Given the description of an element on the screen output the (x, y) to click on. 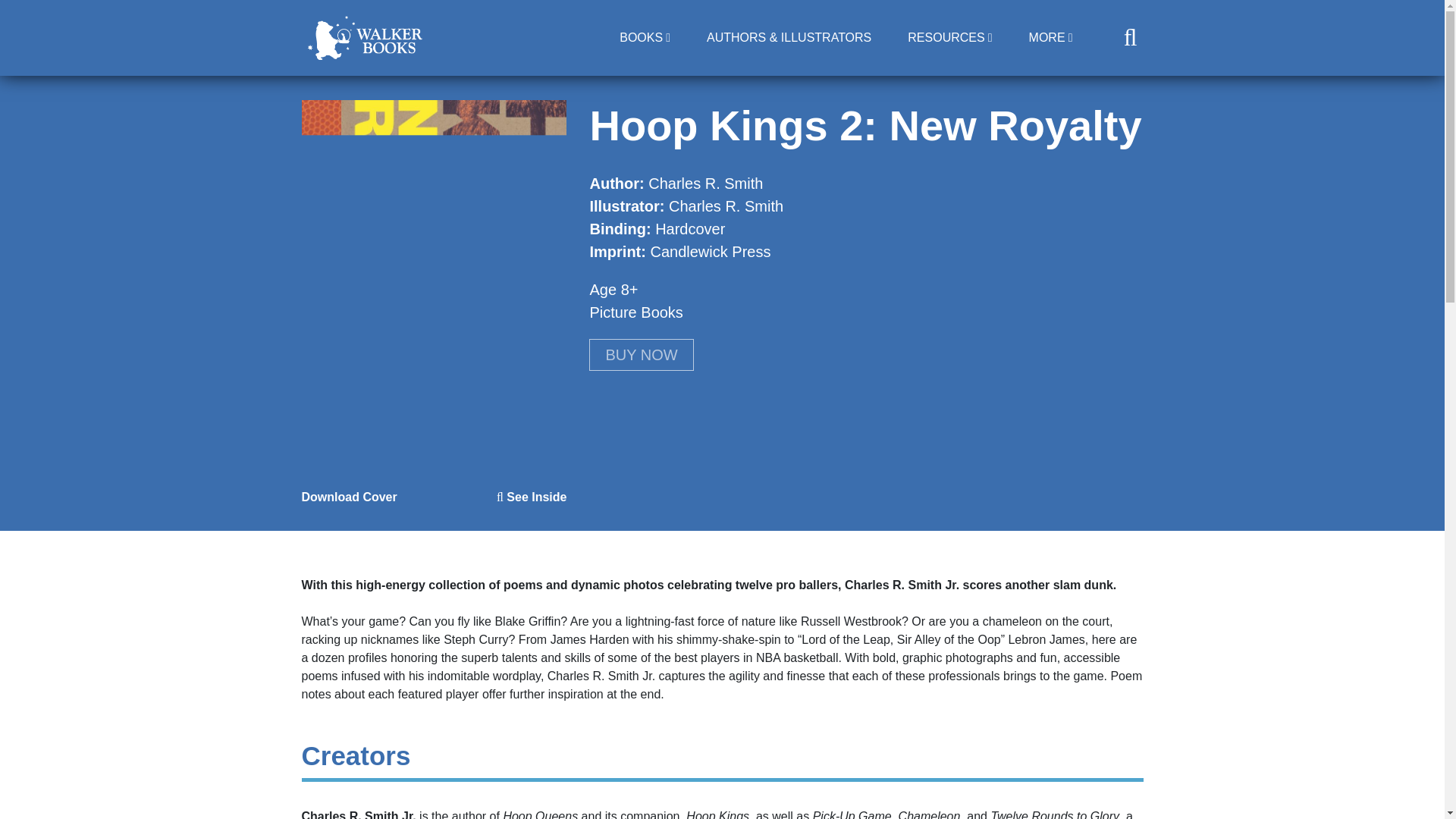
More (1050, 37)
Download Cover (349, 497)
BUY NOW (641, 355)
Candlewick Press (709, 251)
Charles R. Smith (704, 183)
Charles R. Smith (725, 206)
Search (900, 105)
MORE (1050, 37)
RESOURCES (949, 37)
See Inside (531, 497)
Books (644, 37)
Resources (949, 37)
BOOKS (644, 37)
